Given the description of an element on the screen output the (x, y) to click on. 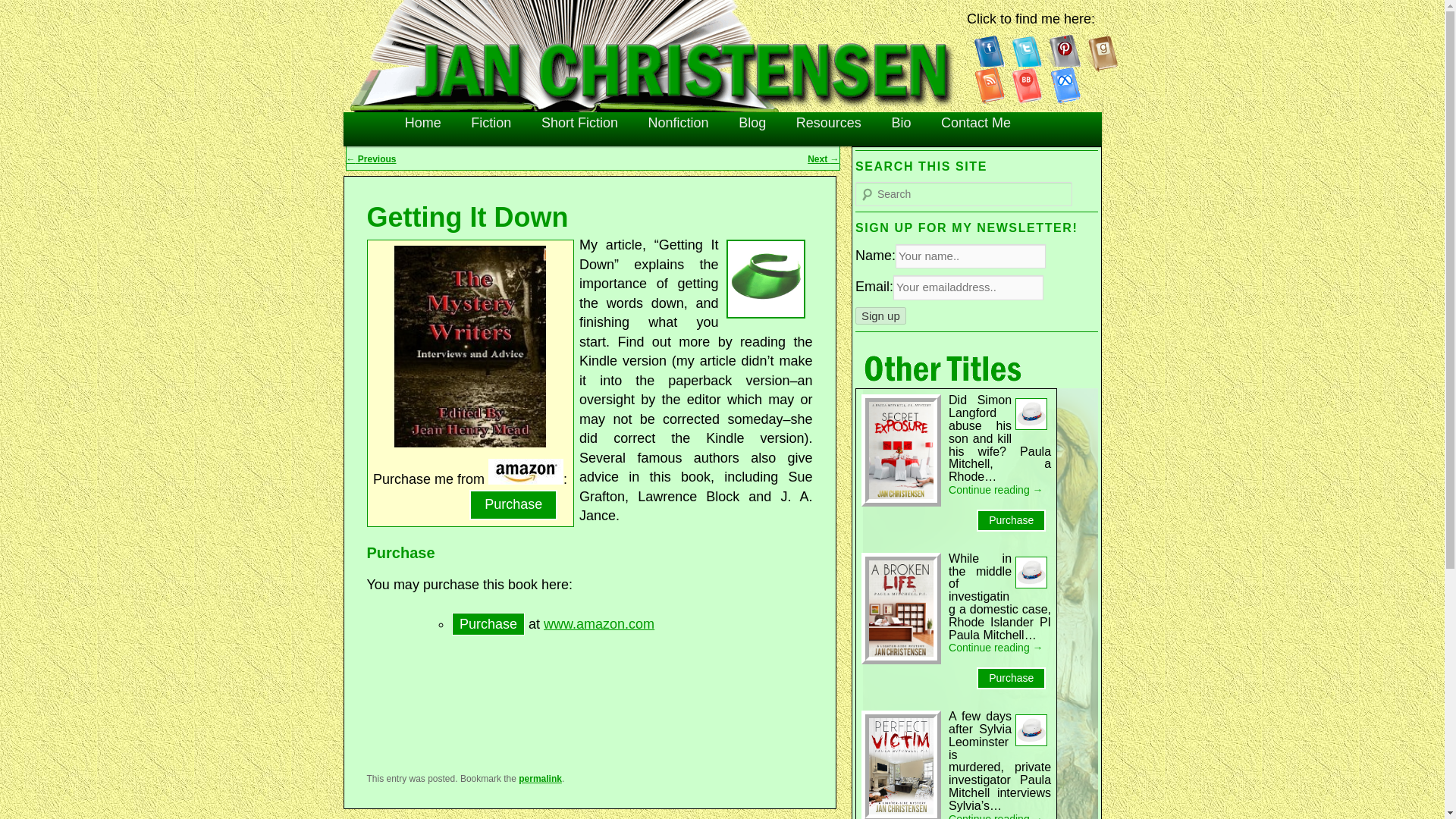
www.amazon.com (598, 623)
Contact Me (976, 123)
Search (21, 11)
Bio (901, 123)
Purchase (1010, 678)
Fiction (490, 123)
Sign up (880, 315)
Purchase (1010, 520)
Click to buy this book (525, 479)
Purchase (512, 504)
Permalink to Getting It Down (540, 778)
Sign up (880, 315)
Blog (751, 123)
Short Fiction (579, 123)
